Given the description of an element on the screen output the (x, y) to click on. 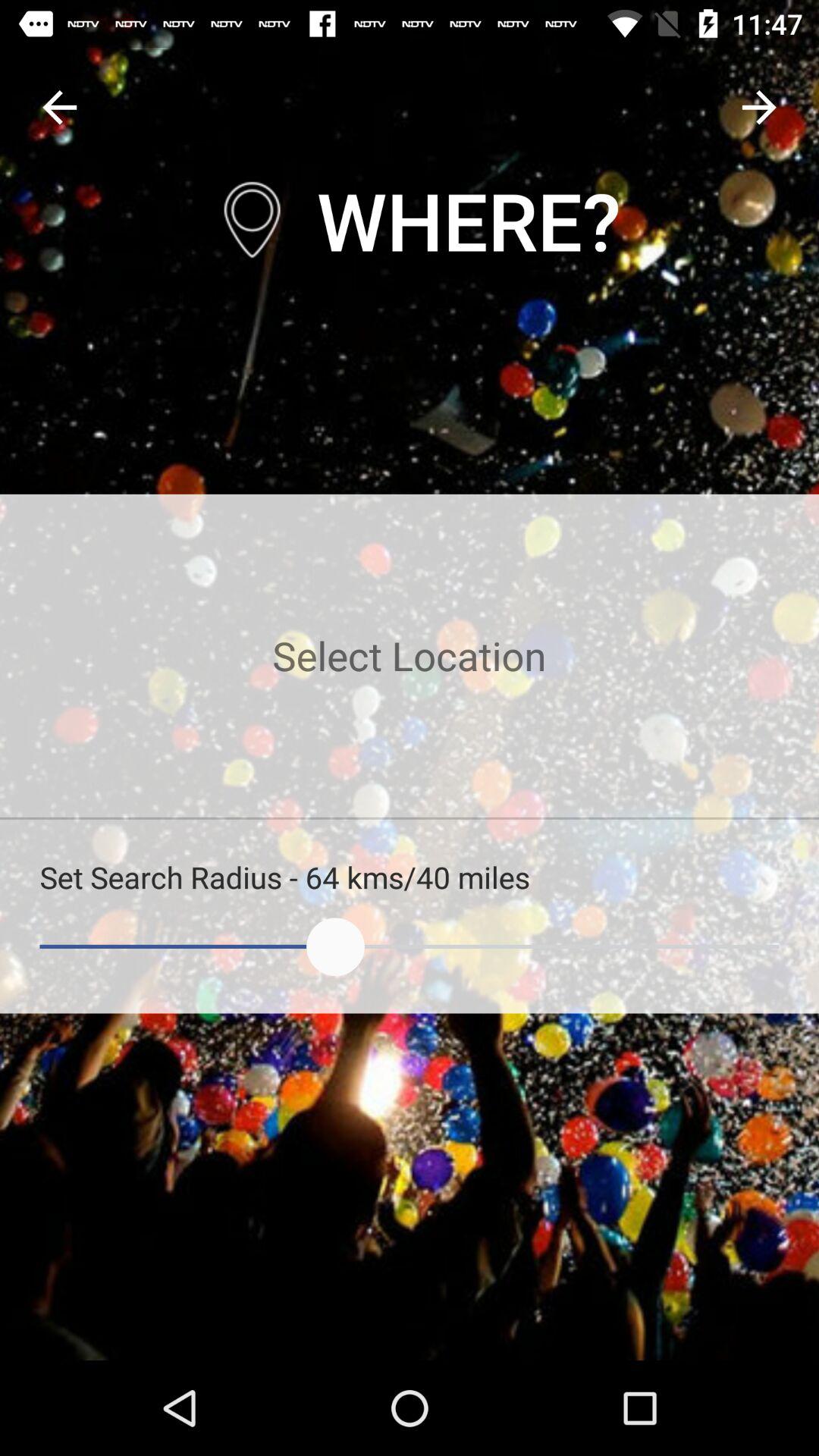
add location (409, 655)
